Given the description of an element on the screen output the (x, y) to click on. 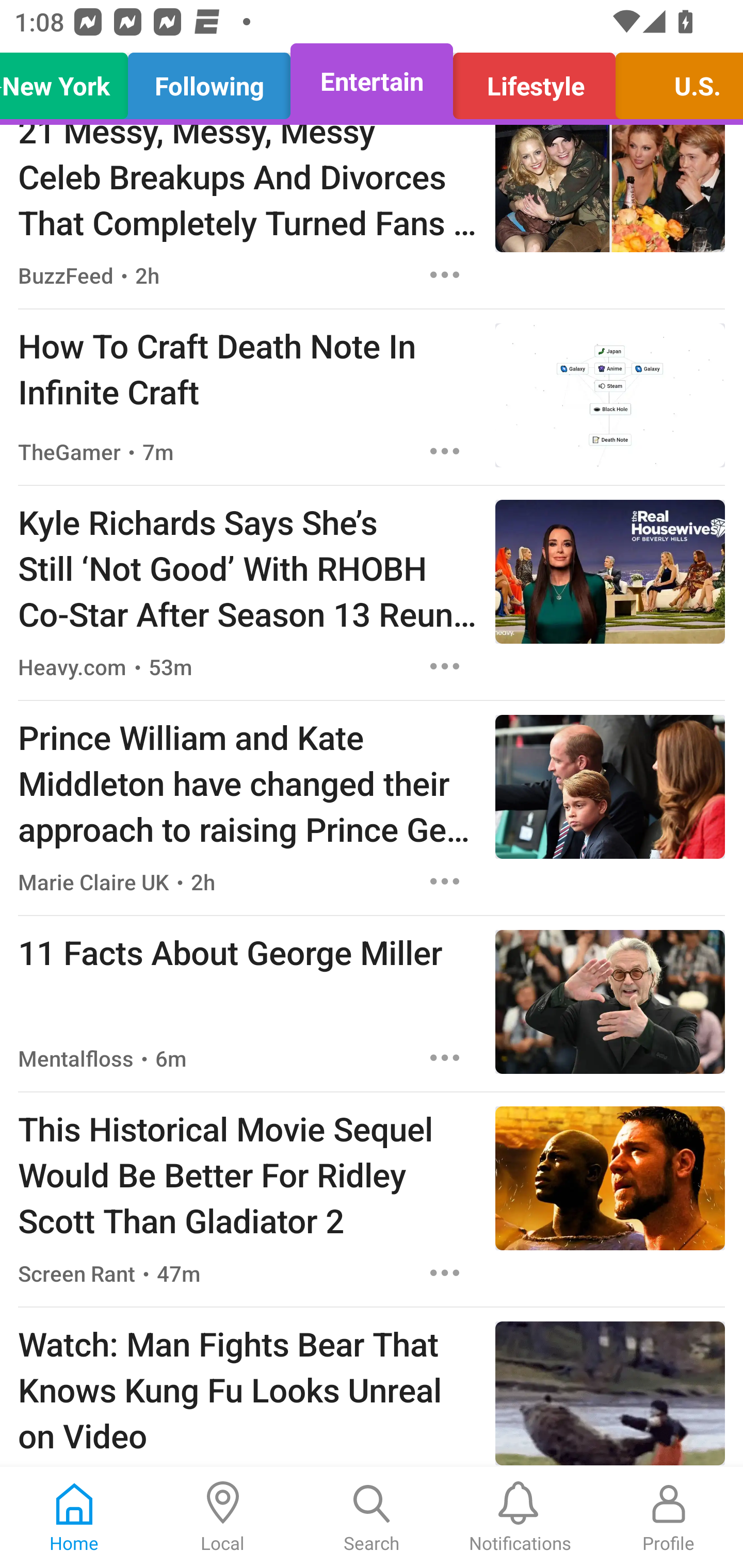
➣New York (69, 81)
Following (209, 81)
Entertain (371, 81)
Lifestyle (534, 81)
U.S. (673, 81)
Options (444, 275)
Options (444, 451)
Options (444, 666)
Options (444, 881)
Options (444, 1057)
Options (444, 1273)
Local (222, 1517)
Search (371, 1517)
Notifications (519, 1517)
Profile (668, 1517)
